Given the description of an element on the screen output the (x, y) to click on. 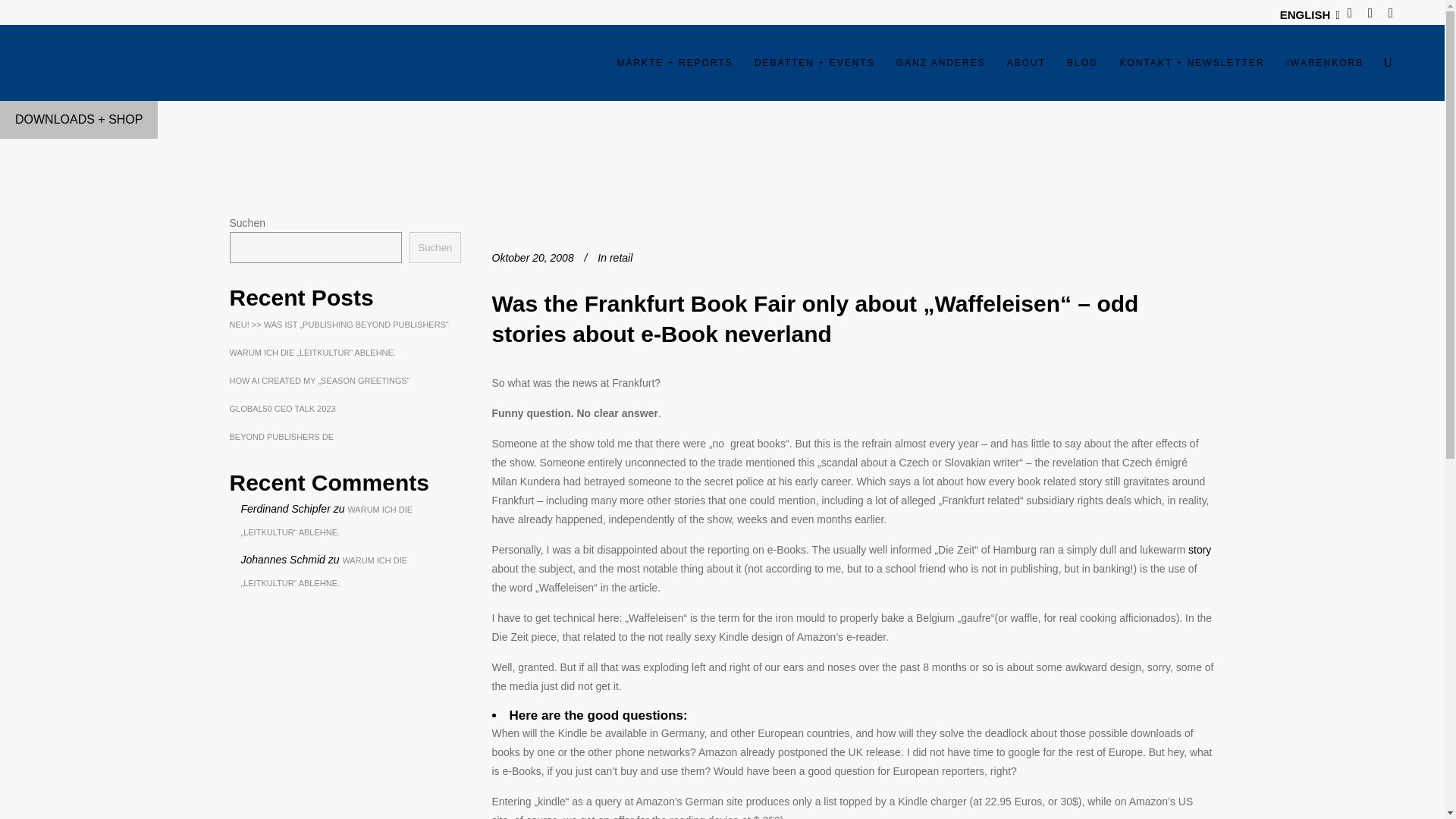
GANZ ANDERES (940, 62)
WARENKORB (1324, 62)
ENGLISH (1304, 14)
